Given the description of an element on the screen output the (x, y) to click on. 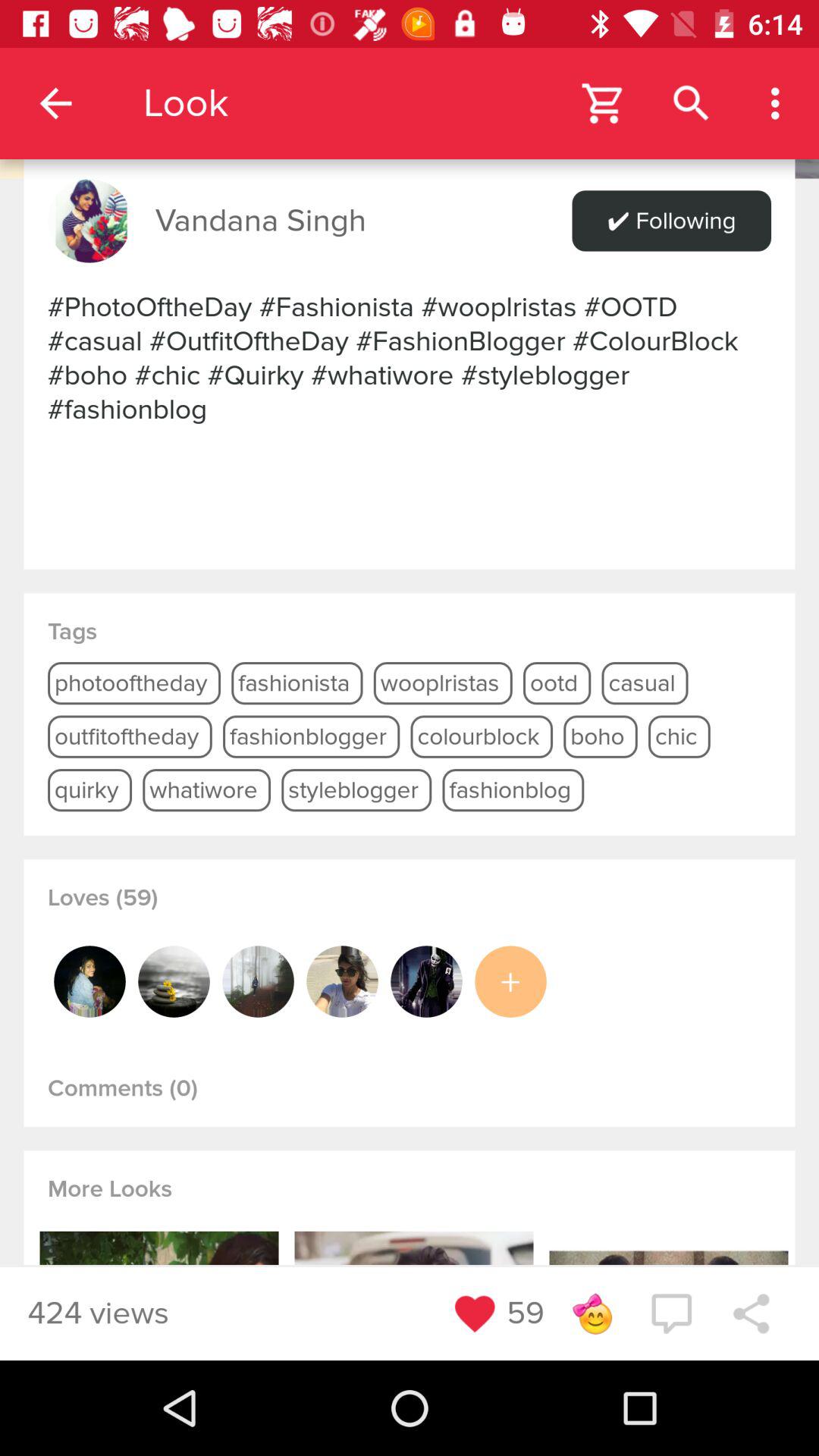
give heart emoji (474, 1313)
